Given the description of an element on the screen output the (x, y) to click on. 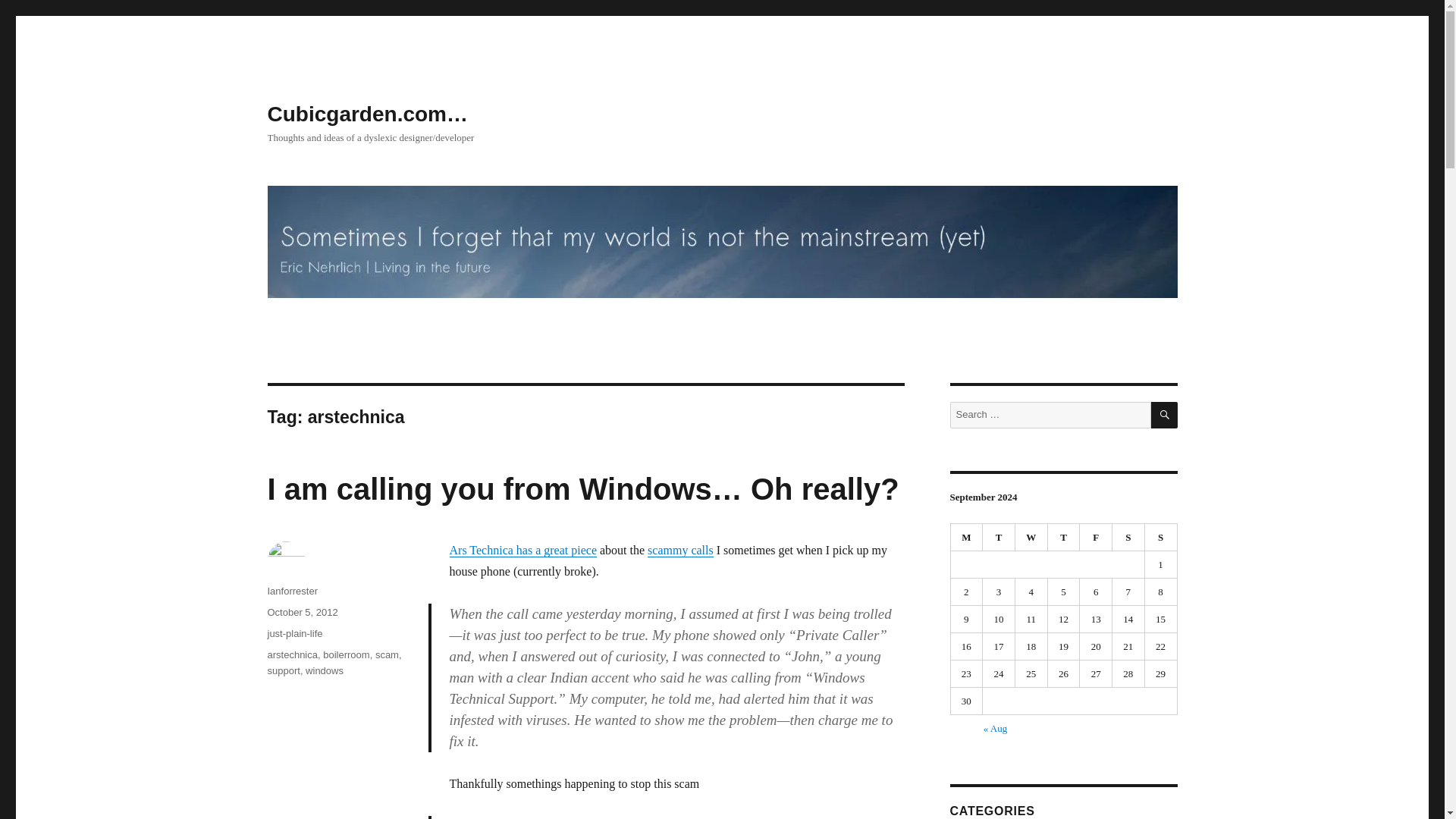
boilerroom (346, 654)
October 5, 2012 (301, 612)
Thursday (1064, 537)
Monday (967, 537)
Saturday (1128, 537)
windows (324, 670)
Ars Technica has a great piece (521, 549)
arstechnica (291, 654)
just-plain-life (293, 633)
support (282, 670)
